Given the description of an element on the screen output the (x, y) to click on. 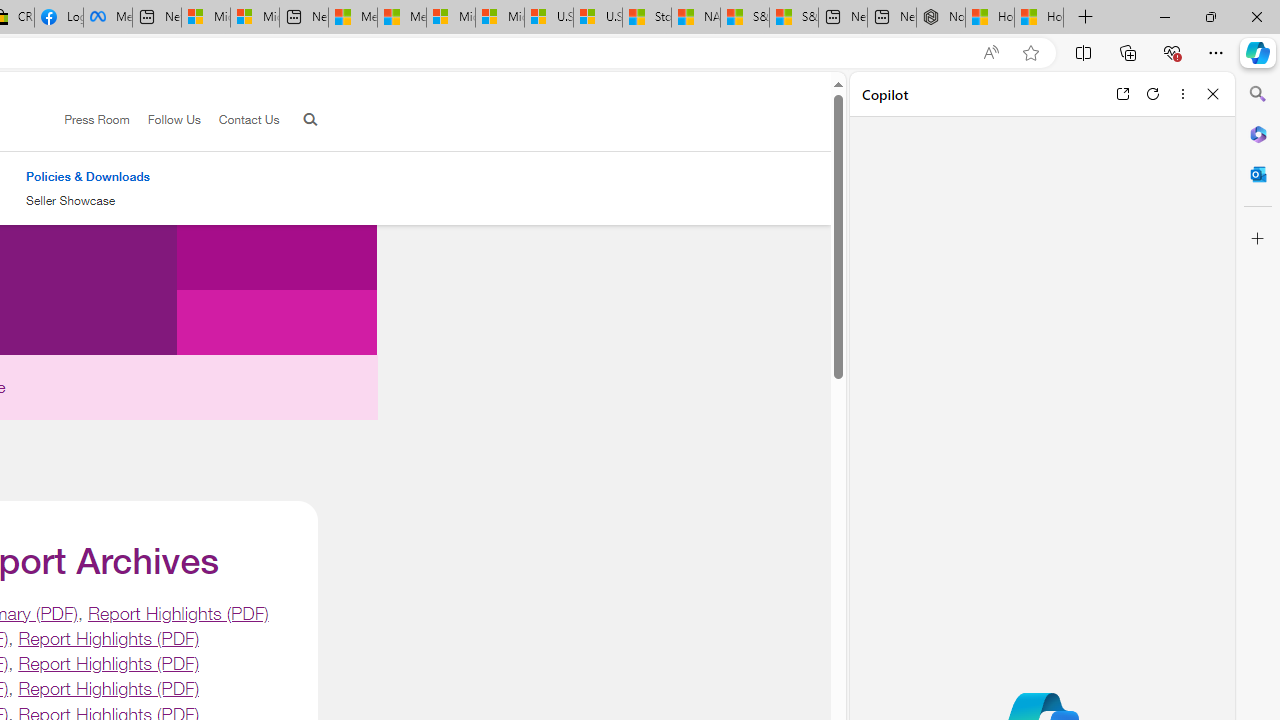
Policies & Downloads (88, 176)
Policies & Downloads (88, 176)
Follow Us (164, 120)
Microsoft account | Privacy (254, 17)
Microsoft 365 (1258, 133)
Open link in new tab (1122, 93)
Report Highlights (PDF) (107, 688)
S&P 500, Nasdaq end lower, weighed by Nvidia dip | Watch (793, 17)
